Given the description of an element on the screen output the (x, y) to click on. 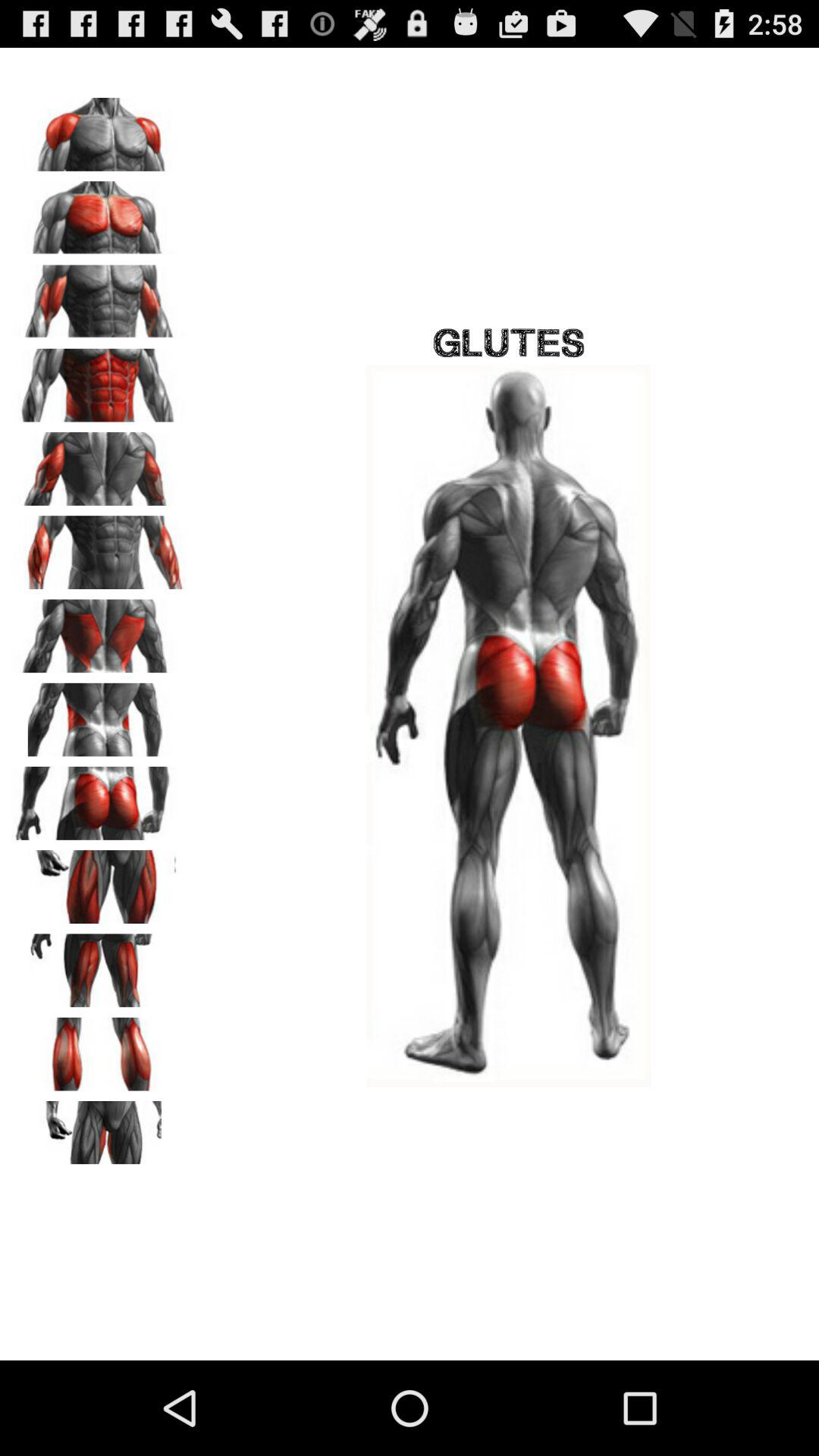
show calf muscles (99, 1048)
